Given the description of an element on the screen output the (x, y) to click on. 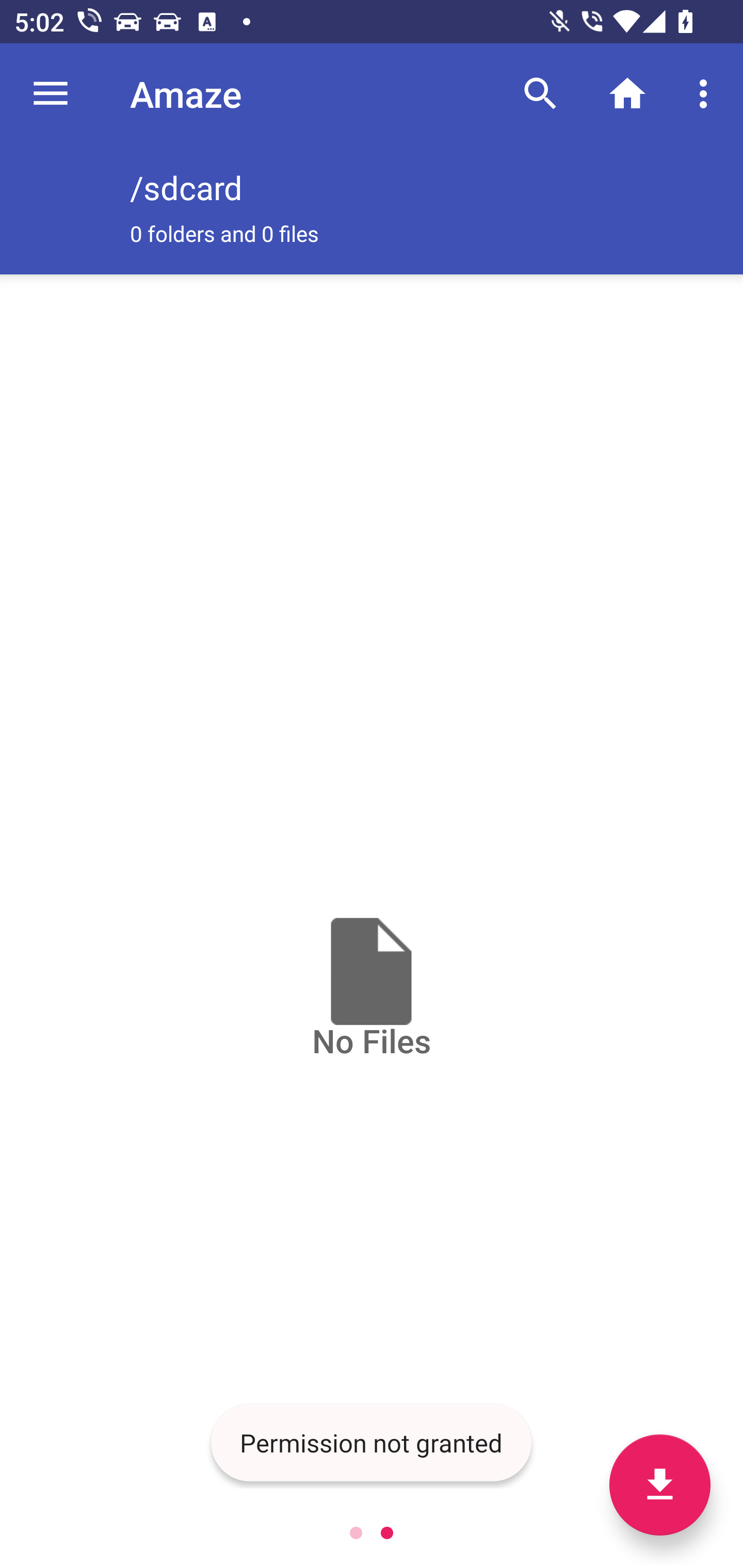
Navigate up (50, 93)
Search (540, 93)
Home (626, 93)
More options (706, 93)
